Given the description of an element on the screen output the (x, y) to click on. 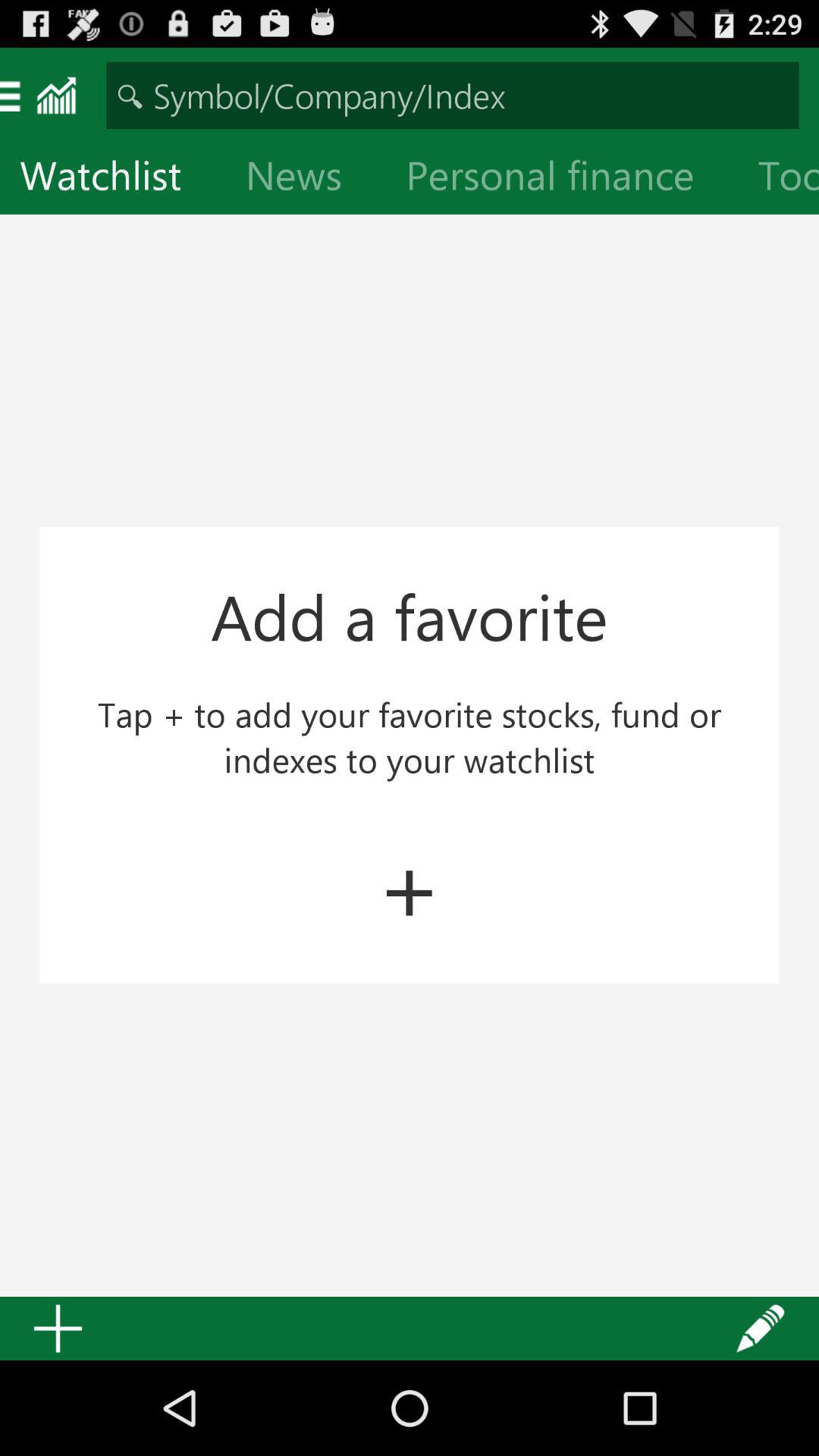
tap the item next to personal finance item (305, 178)
